Given the description of an element on the screen output the (x, y) to click on. 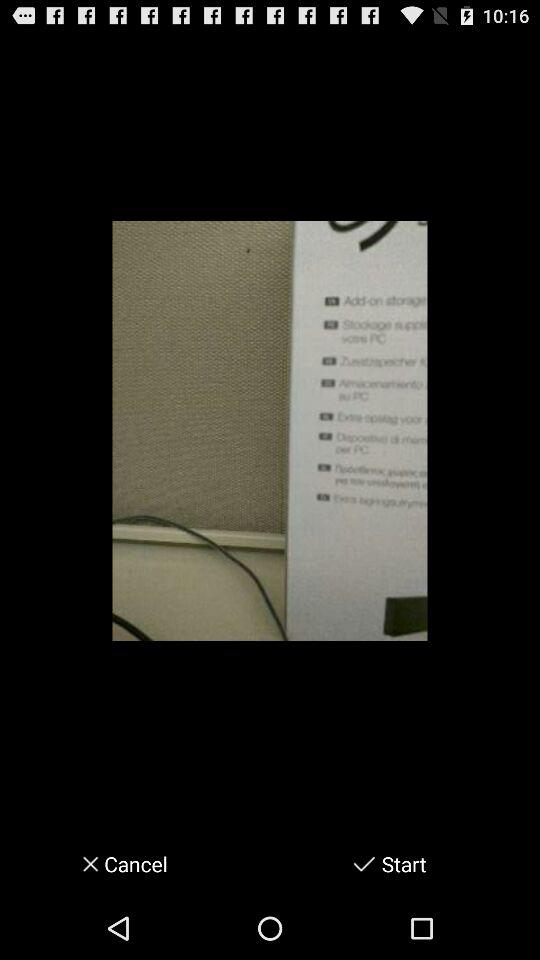
toggle start option (363, 864)
